Given the description of an element on the screen output the (x, y) to click on. 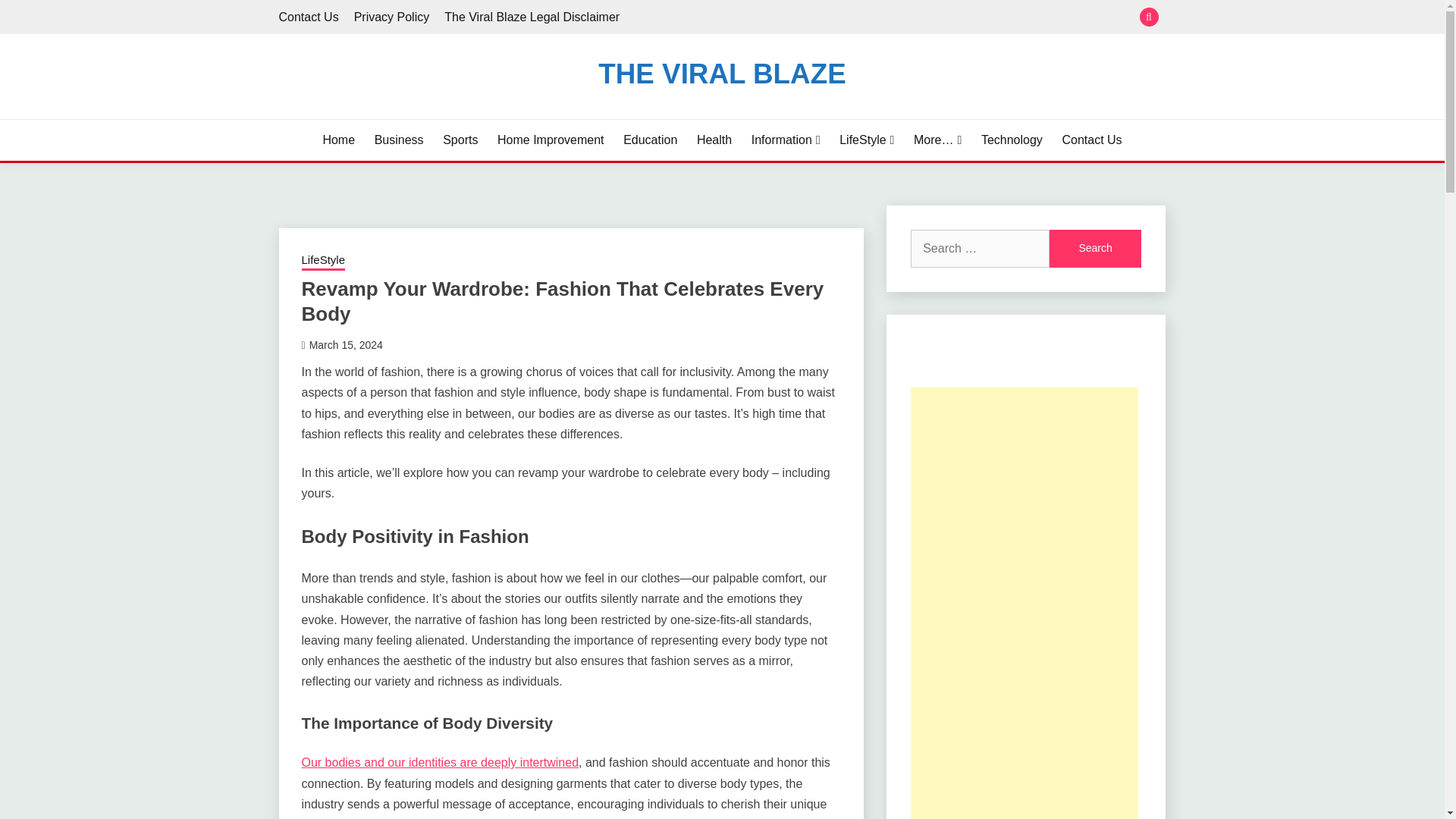
Contact Us (1091, 140)
Home Improvement (550, 140)
Education (650, 140)
Contact Us (309, 16)
Search (832, 18)
LifeStyle (866, 140)
Privacy Policy (391, 16)
The Viral Blaze Legal Disclaimer (532, 16)
Information (786, 140)
Our bodies and our identities are deeply intertwined (440, 762)
